Given the description of an element on the screen output the (x, y) to click on. 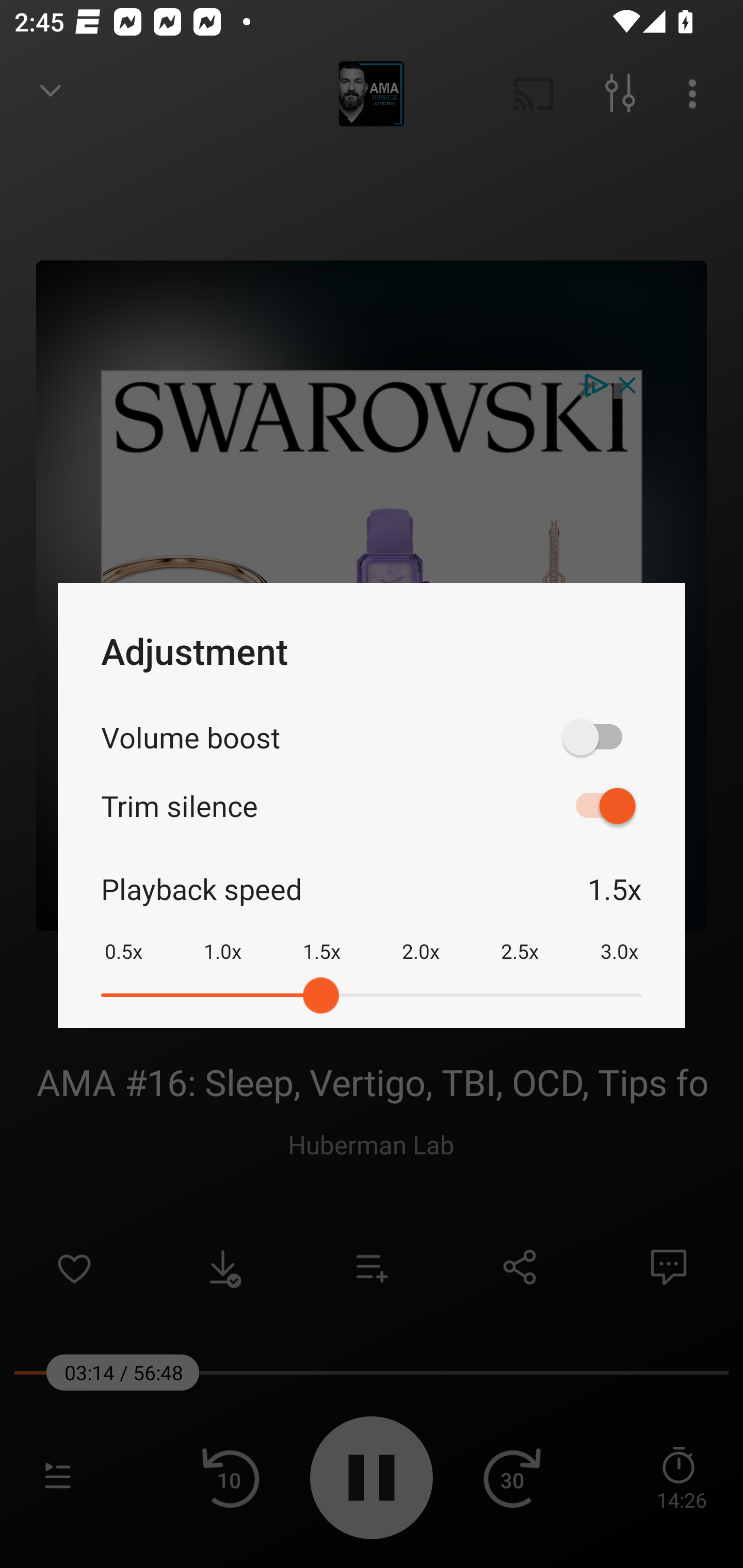
0.5x (123, 937)
1.0x (222, 937)
1.5x (321, 937)
2.0x (420, 937)
2.5x (519, 937)
3.0x (618, 937)
